Given the description of an element on the screen output the (x, y) to click on. 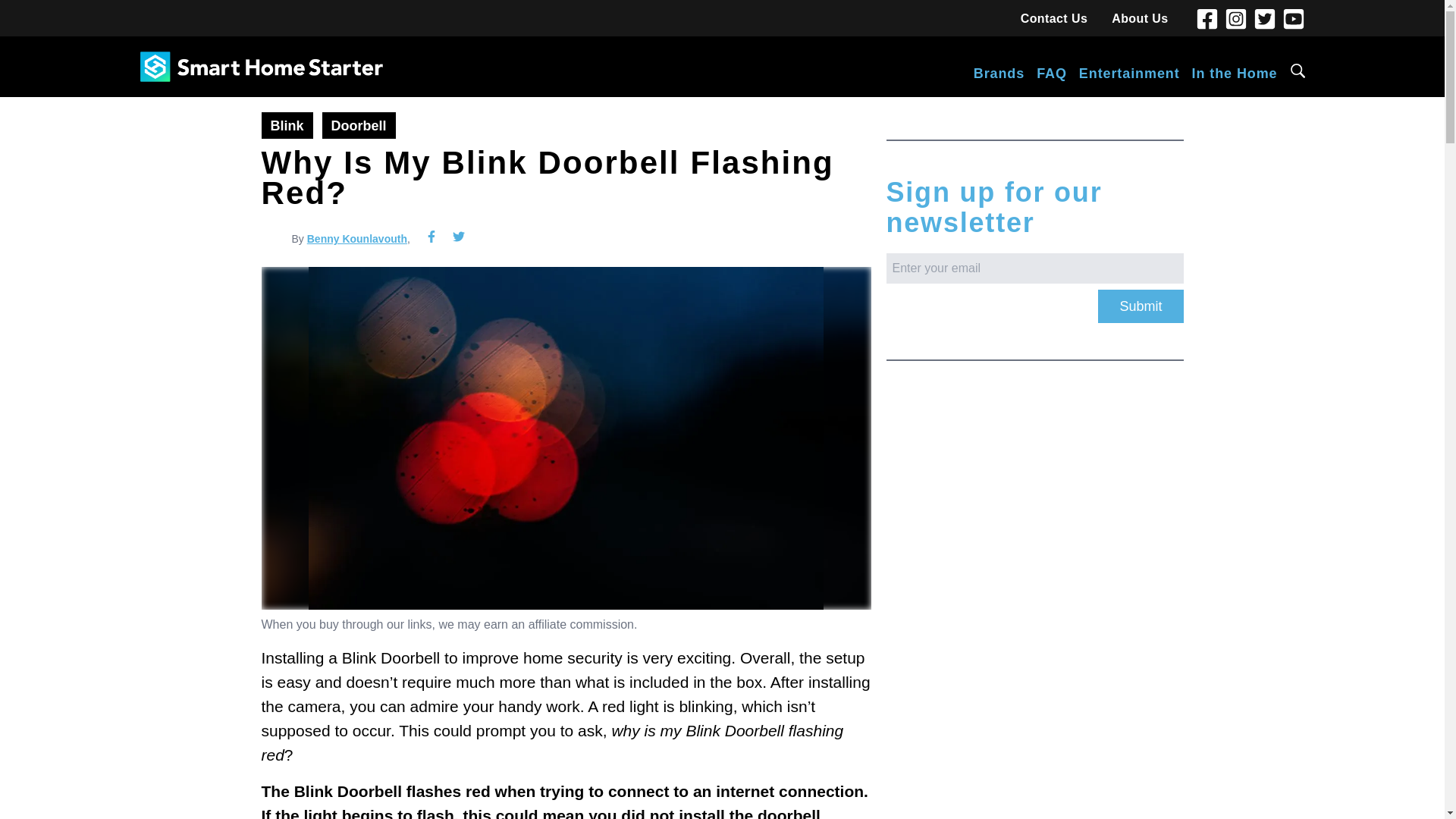
About Us (1139, 18)
Doorbell (358, 125)
Contact Us (1053, 18)
Blink (286, 125)
Benny Kounlavouth (357, 238)
